Given the description of an element on the screen output the (x, y) to click on. 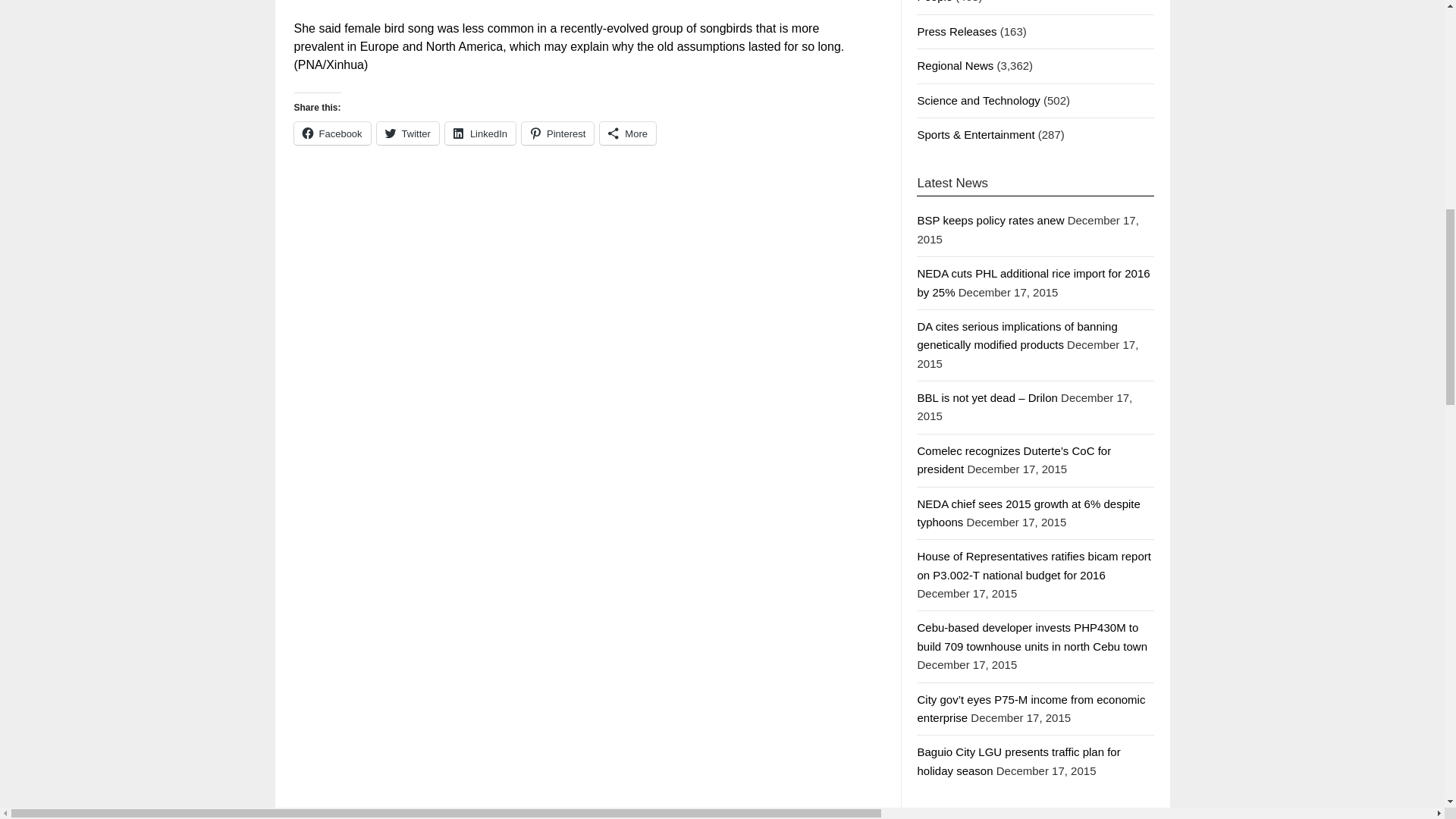
BSP keeps policy rates anew (990, 219)
More (627, 133)
Click to share on LinkedIn (480, 133)
Science and Technology (978, 100)
People (934, 1)
Press Releases (956, 31)
LinkedIn (480, 133)
Regional News (954, 65)
Twitter (408, 133)
Facebook (332, 133)
Pinterest (557, 133)
Click to share on Facebook (332, 133)
Click to share on Twitter (408, 133)
Click to share on Pinterest (557, 133)
